Given the description of an element on the screen output the (x, y) to click on. 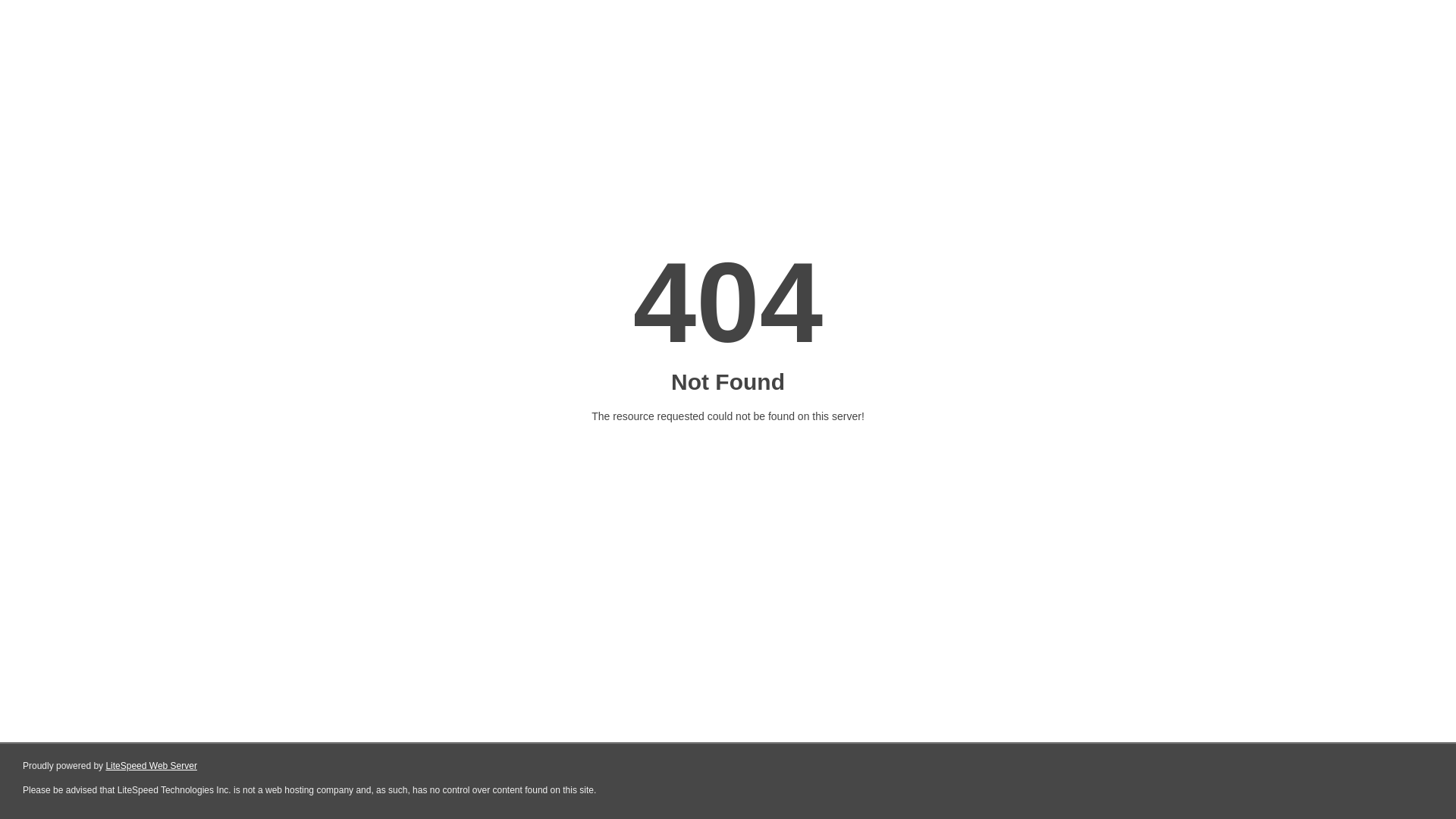
LiteSpeed Web Server Element type: text (151, 765)
